Given the description of an element on the screen output the (x, y) to click on. 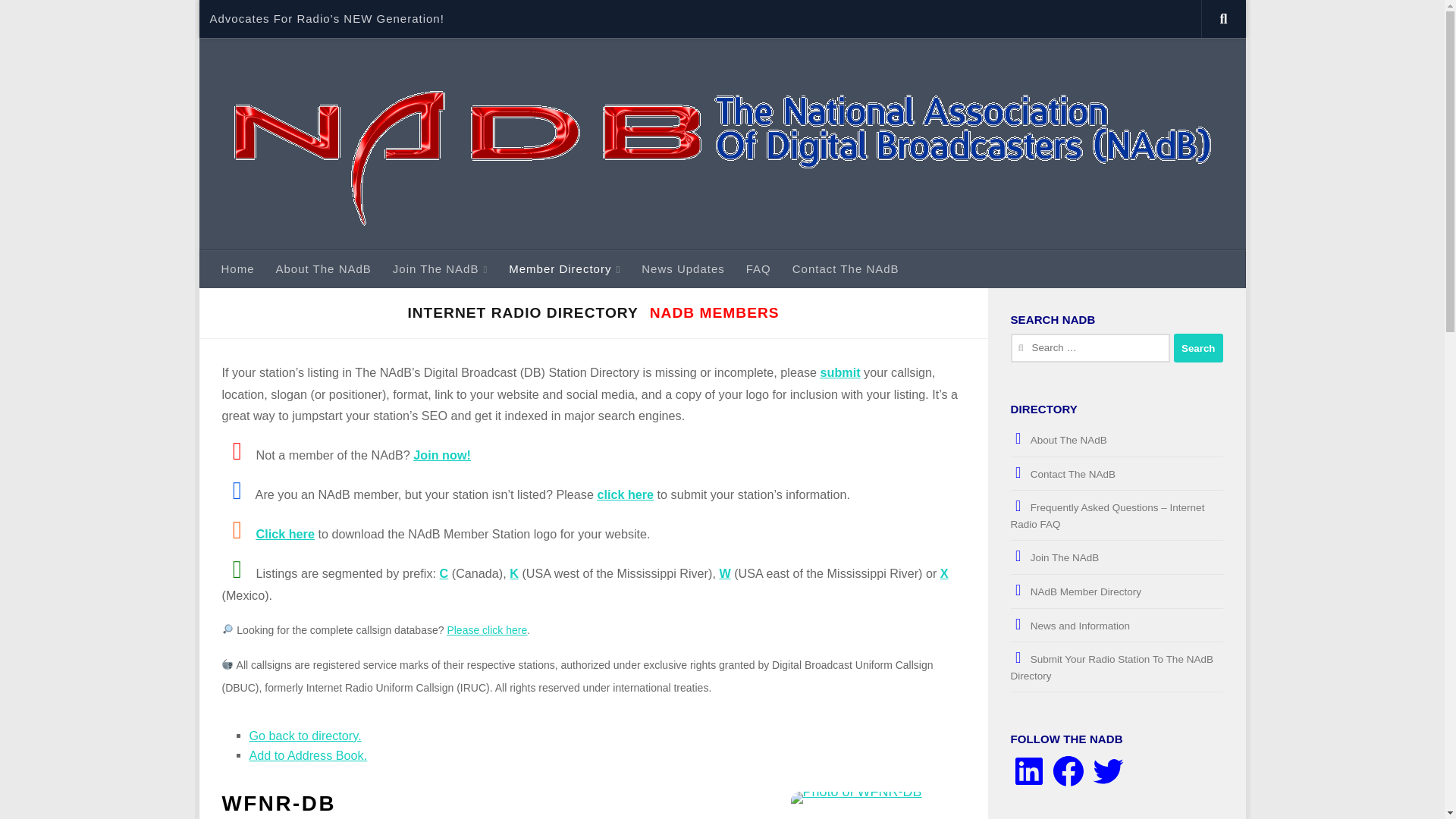
submit (840, 372)
Please click here (486, 630)
Contact The NAdB (845, 269)
Download vCard (307, 755)
About The NAdB (322, 269)
Search (1198, 347)
News Updates (682, 269)
Photo of WFNR-DB (875, 805)
Join The NAdB (439, 269)
Skip to content (263, 20)
Join now! (441, 454)
FAQ (758, 269)
click here (624, 494)
Click here (285, 533)
Go back to directory. (304, 735)
